Given the description of an element on the screen output the (x, y) to click on. 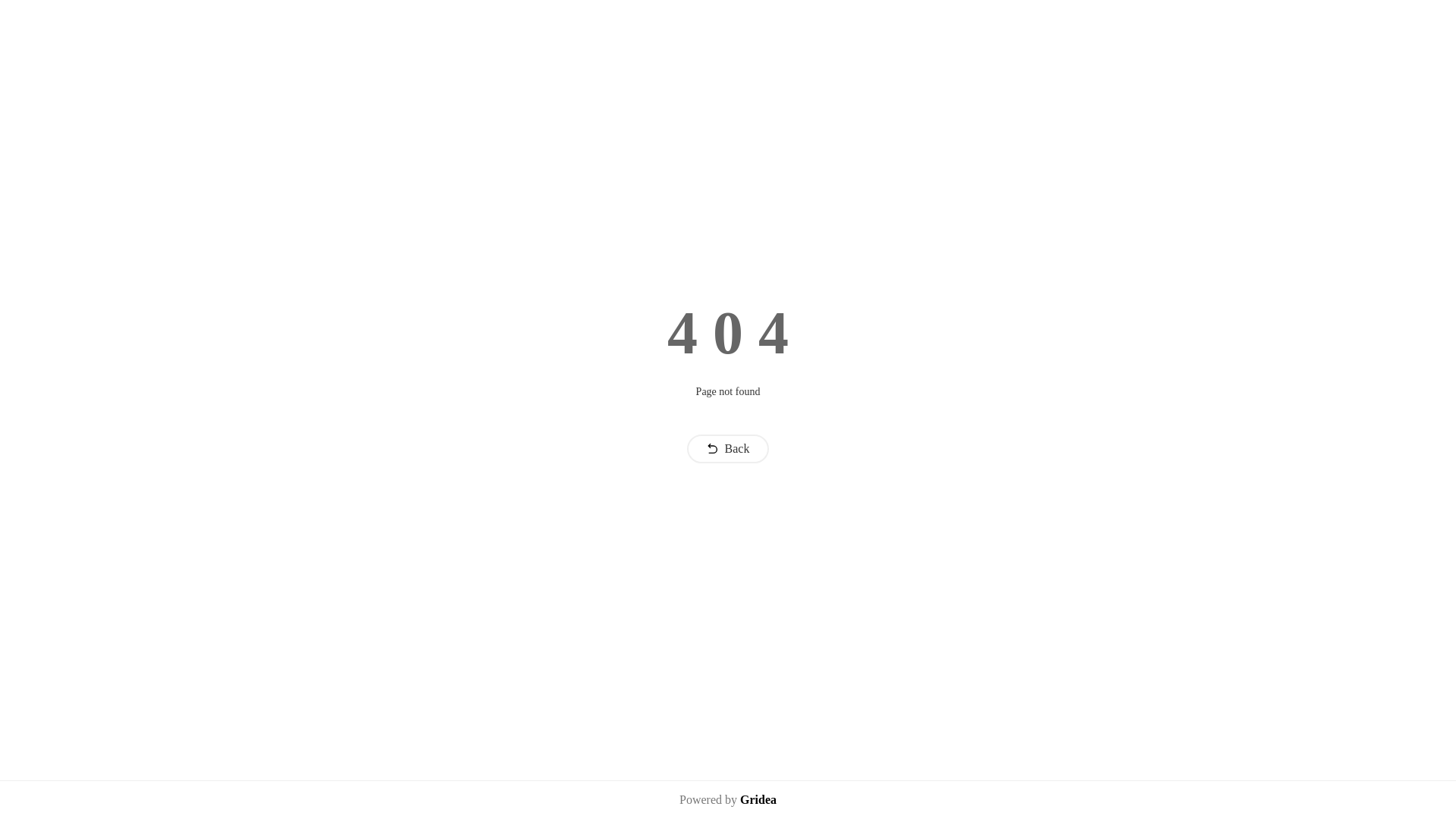
Gridea Element type: text (758, 799)
Back Element type: text (728, 448)
